Given the description of an element on the screen output the (x, y) to click on. 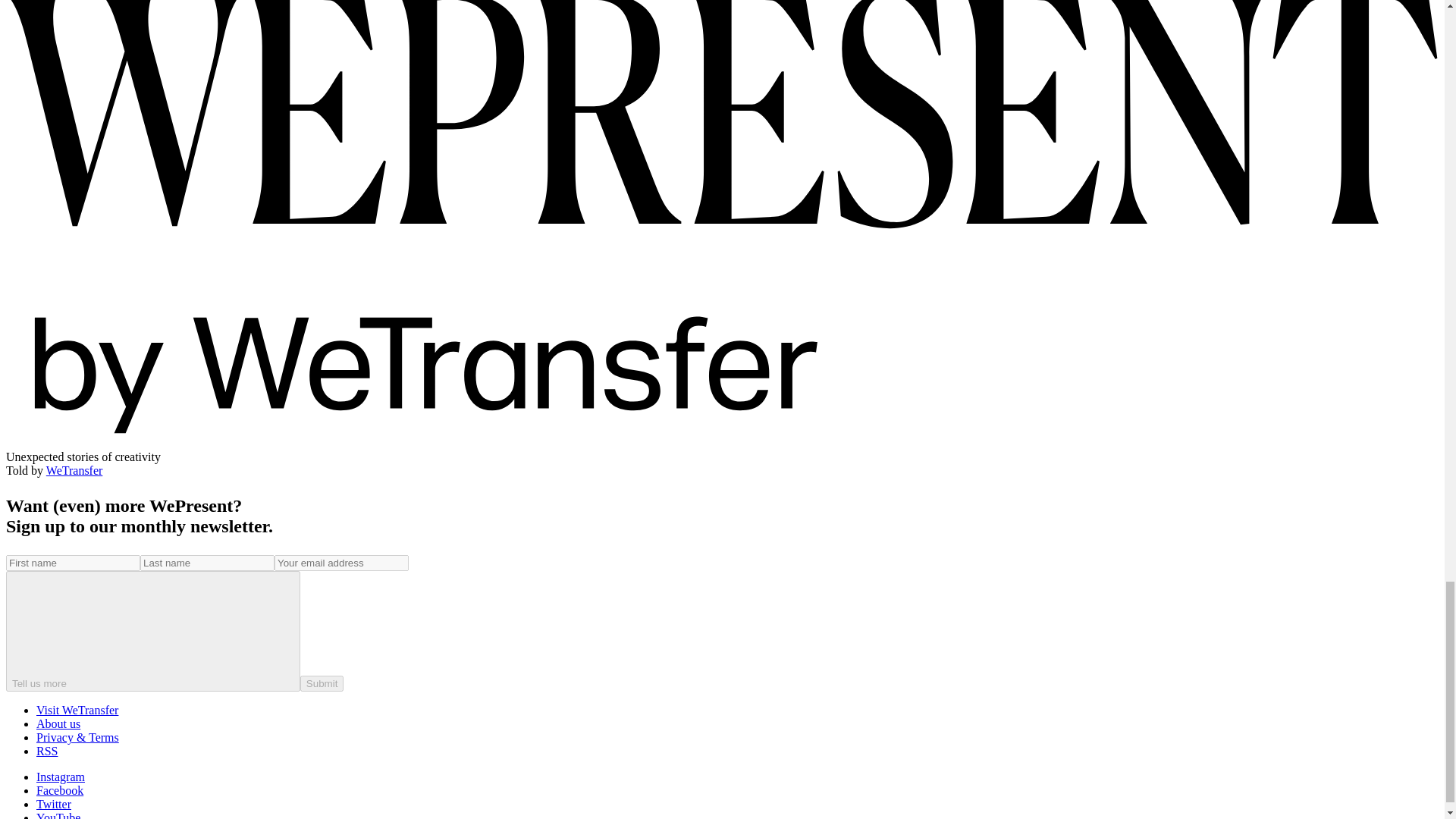
Tell us more (152, 630)
WeTransfer (74, 470)
Submit (321, 683)
RSS (47, 750)
Twitter (53, 803)
Facebook (59, 789)
Visit WeTransfer (76, 709)
Instagram (60, 776)
About us (58, 723)
